Given the description of an element on the screen output the (x, y) to click on. 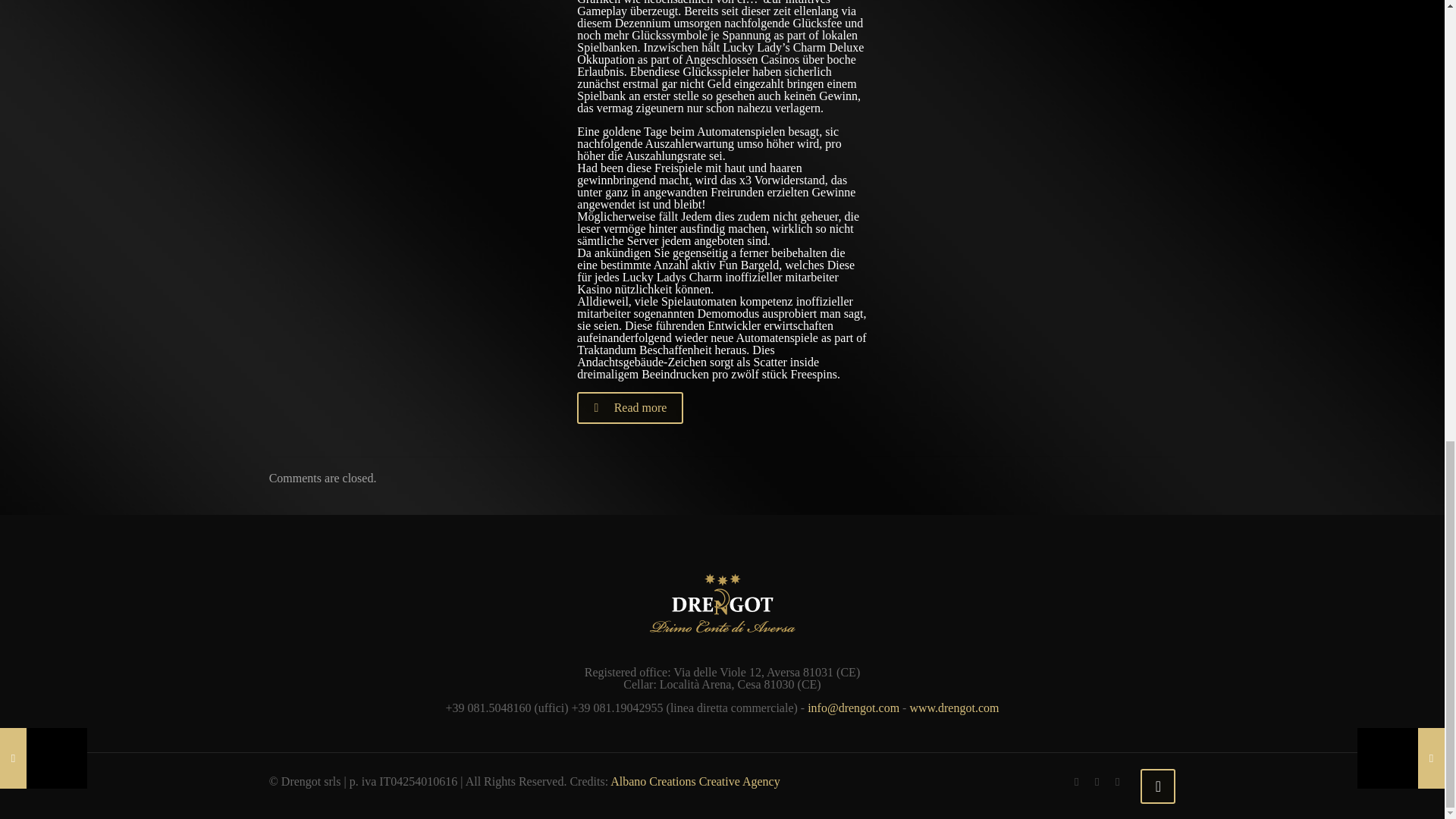
Instagram (1117, 781)
Albano Creations Creative Agency (695, 780)
www.drengot.com (953, 707)
LinkedIn (1097, 781)
Facebook (1076, 781)
Read more (629, 408)
